Given the description of an element on the screen output the (x, y) to click on. 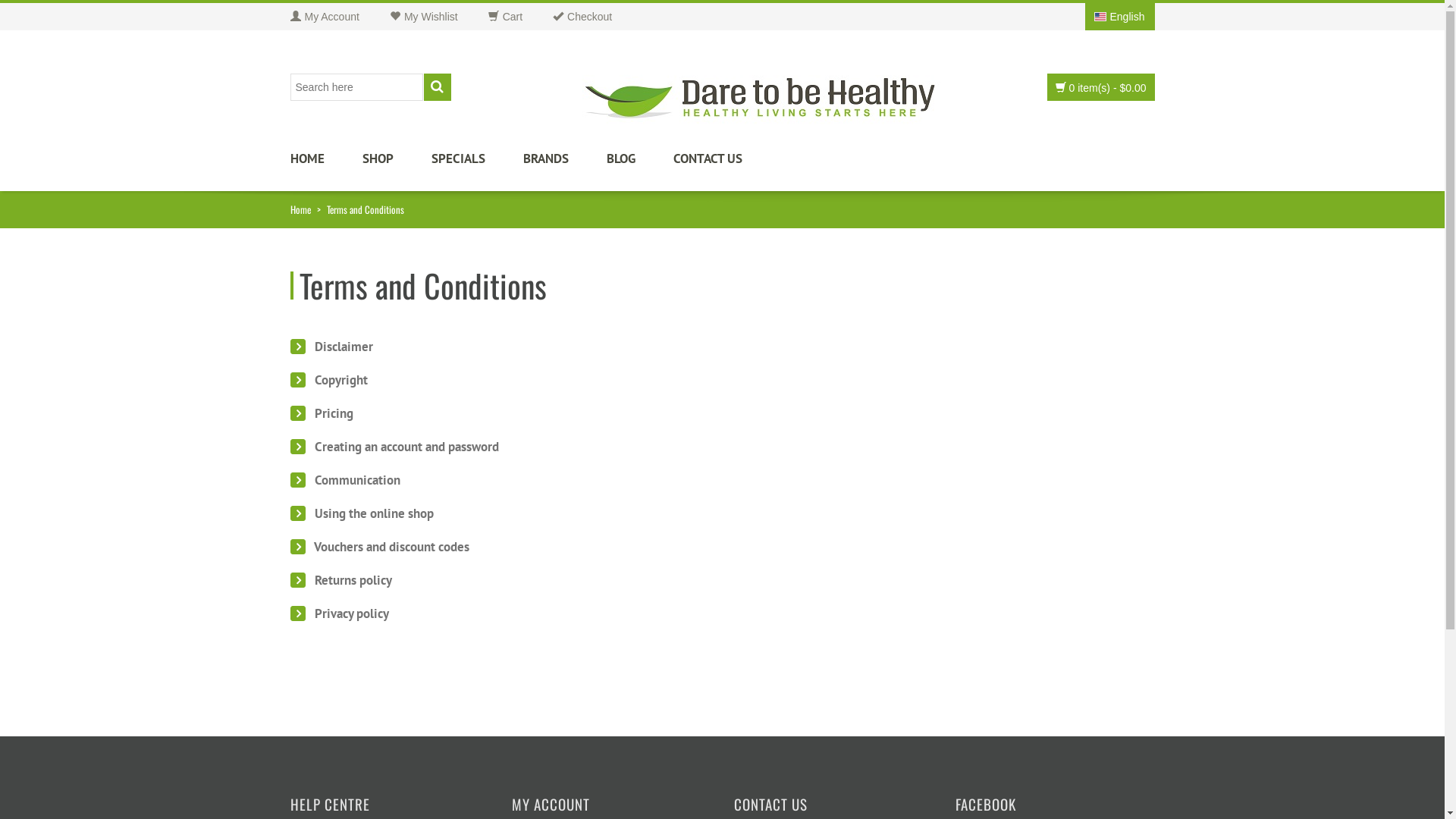
Communication Element type: text (344, 479)
Cart Element type: text (520, 16)
Dare to be Healthy - Healthy living starts here Element type: hover (759, 98)
English Element type: text (1119, 16)
Returns policy Element type: text (340, 580)
BRANDS Element type: text (564, 165)
SPECIALS Element type: text (476, 165)
Home Element type: text (299, 208)
Using the online shop Element type: text (361, 513)
Disclaimer Element type: text (330, 346)
Creating an account and password Element type: text (393, 446)
HOME Element type: text (325, 165)
BLOG Element type: text (639, 165)
Privacy policy Element type: text (338, 613)
SHOP Element type: text (396, 165)
Checkout Element type: text (597, 16)
CONTACT US Element type: text (717, 165)
My Wishlist Element type: text (438, 16)
Vouchers and discount codes Element type: text (378, 546)
My Account Element type: text (339, 16)
Pricing Element type: text (320, 413)
Search Element type: hover (436, 86)
Copyright Element type: text (328, 379)
